Given the description of an element on the screen output the (x, y) to click on. 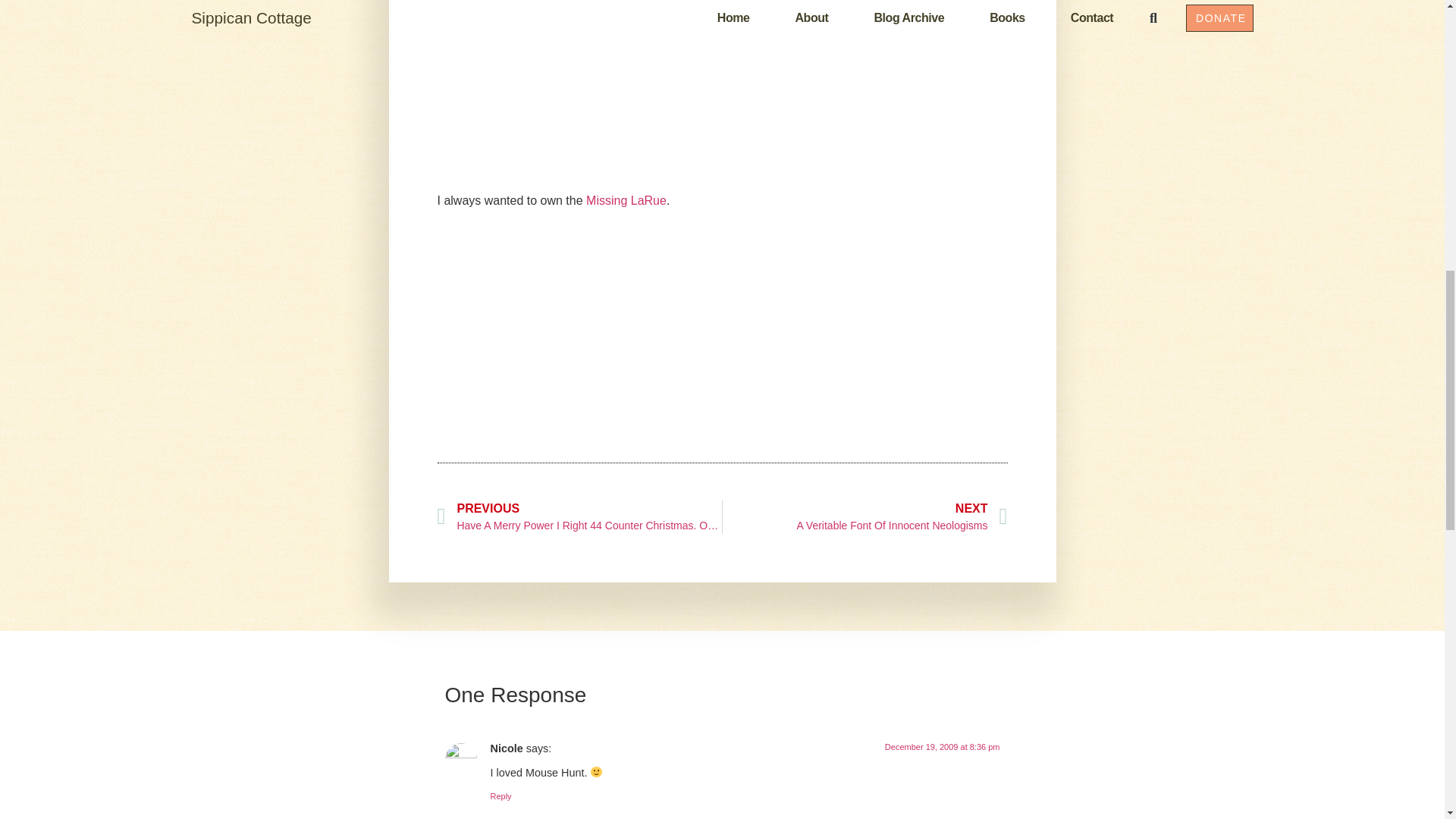
Reply (500, 795)
Missing LaRue (626, 200)
December 19, 2009 at 8:36 pm (864, 516)
